Given the description of an element on the screen output the (x, y) to click on. 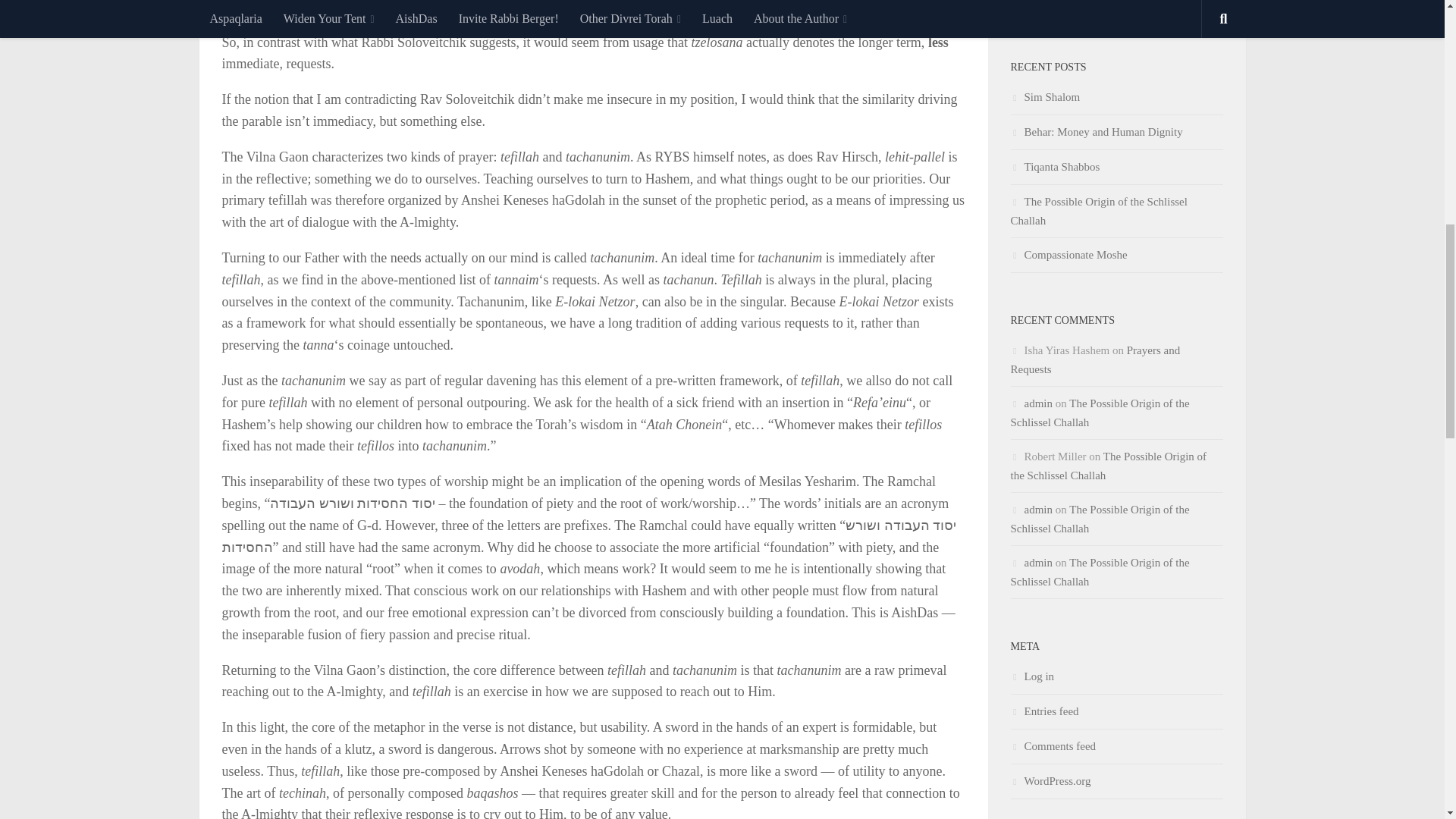
Subscribe (1115, 6)
